Given the description of an element on the screen output the (x, y) to click on. 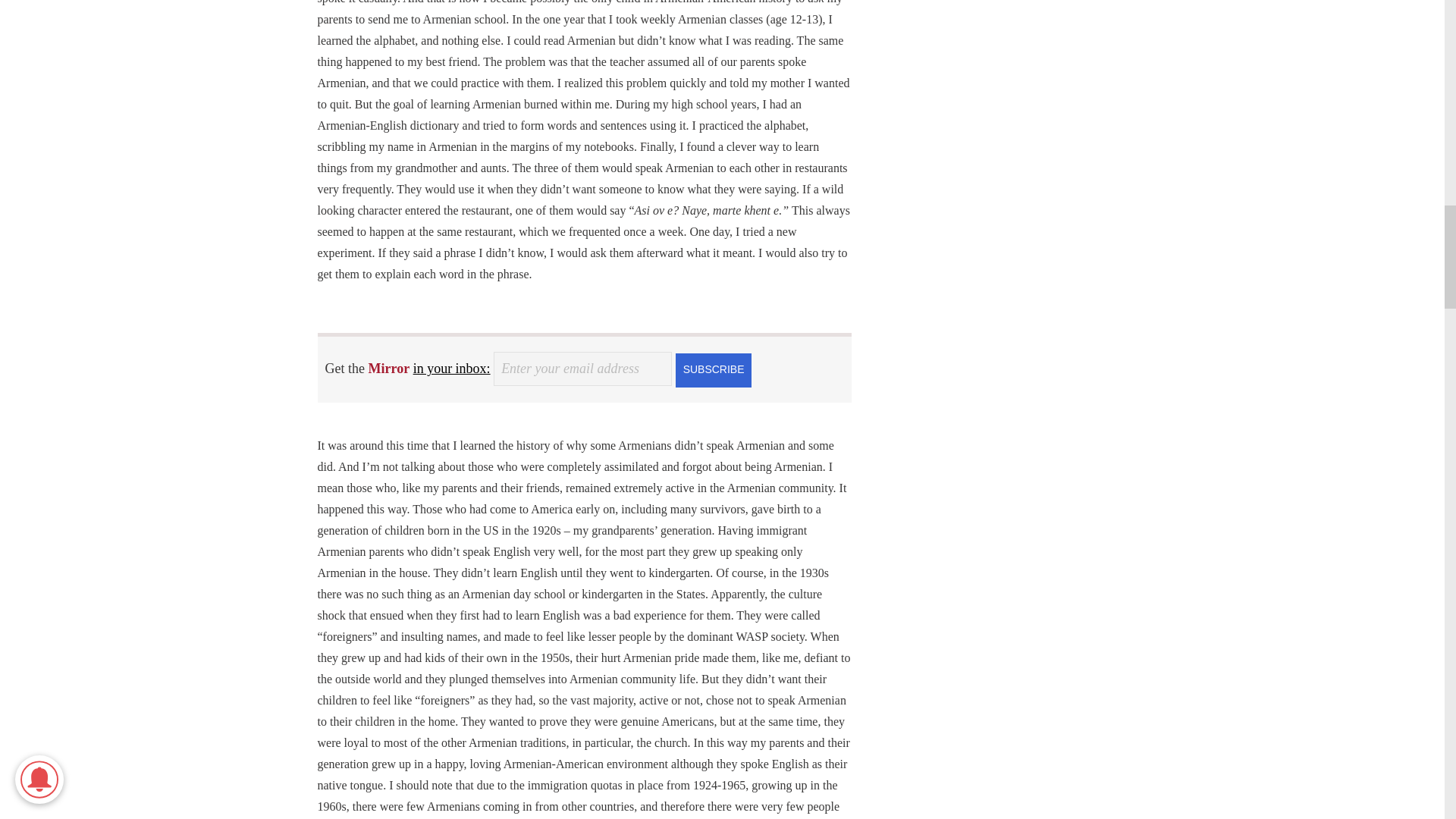
SUBSCRIBE (713, 368)
